Given the description of an element on the screen output the (x, y) to click on. 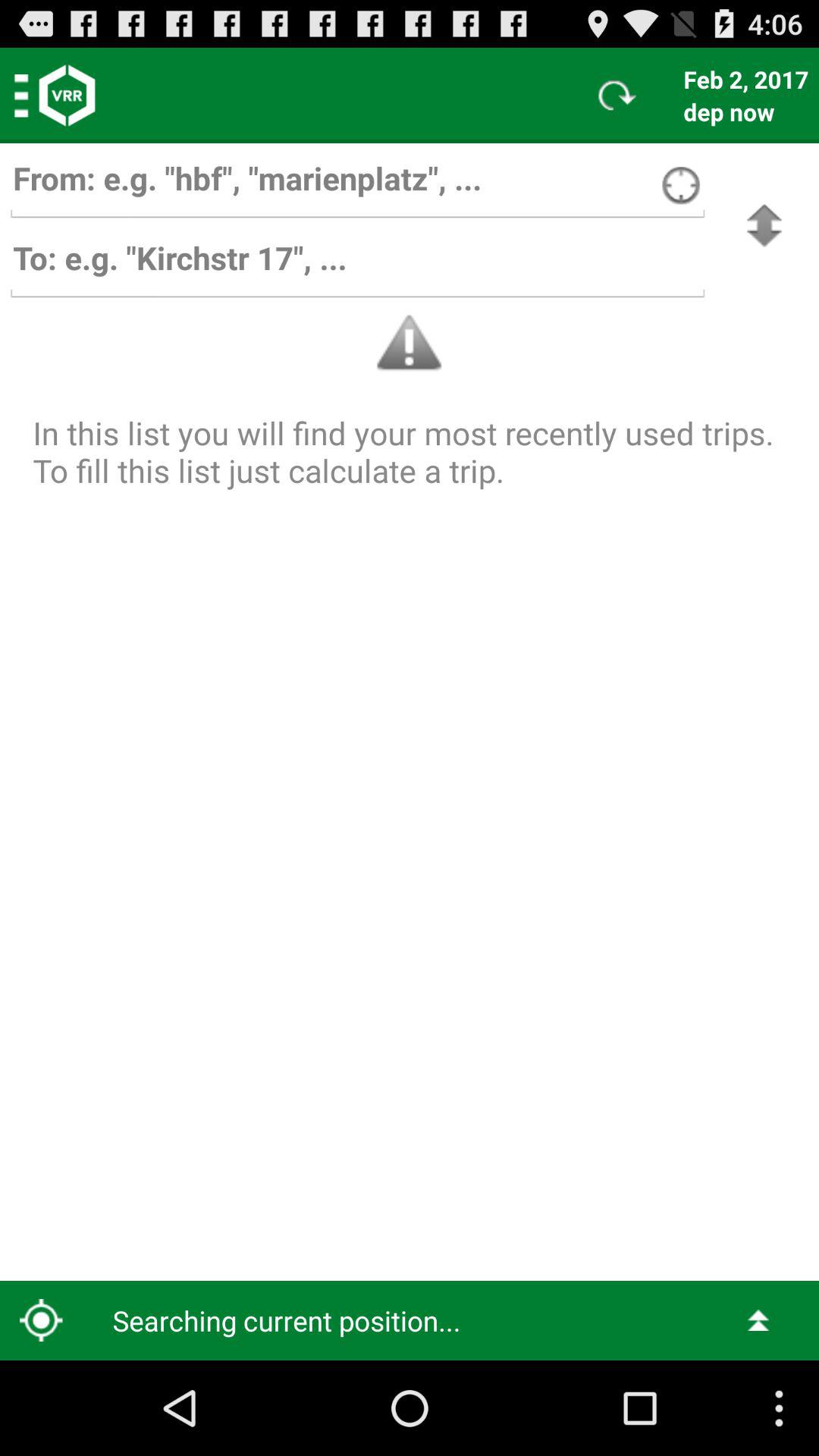
write the location to start from (357, 185)
